Given the description of an element on the screen output the (x, y) to click on. 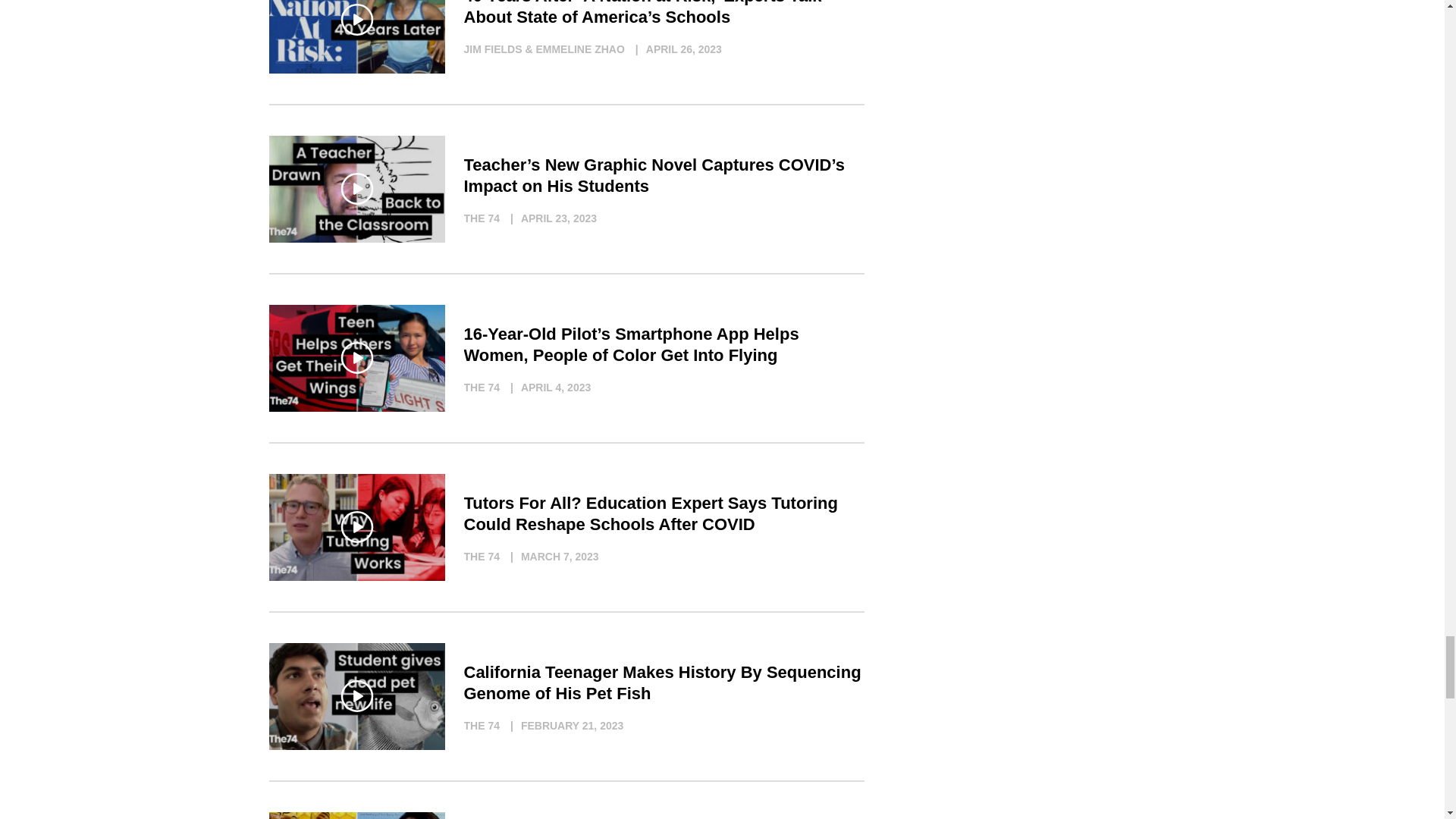
March 7, 2023 (550, 556)
April 4, 2023 (546, 387)
February 21, 2023 (562, 725)
April 26, 2023 (674, 48)
April 23, 2023 (549, 217)
